Given the description of an element on the screen output the (x, y) to click on. 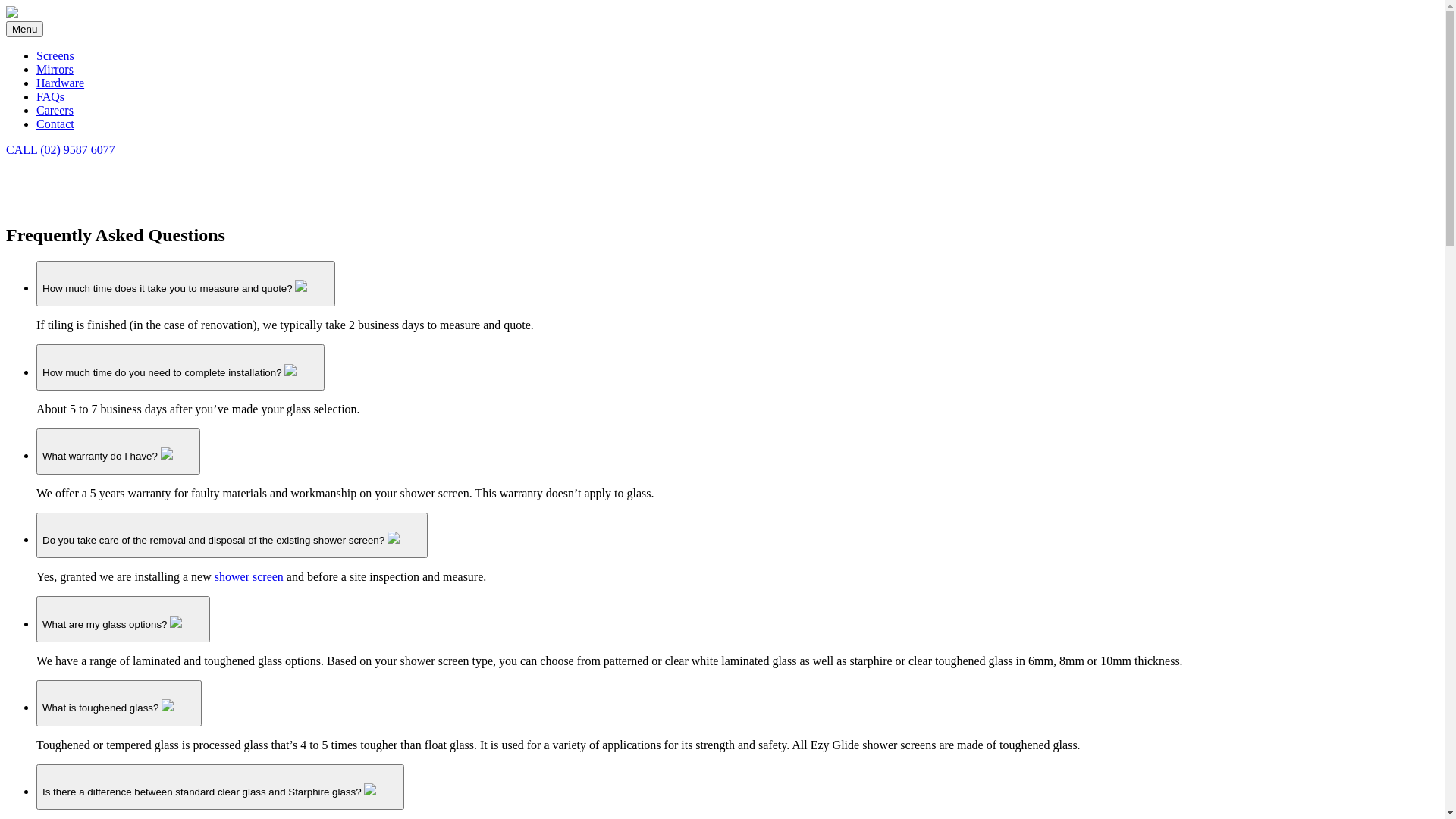
shower screen Element type: text (248, 576)
What warranty do I have? Element type: text (118, 451)
Hardware Element type: text (60, 82)
Contact Element type: text (55, 123)
FAQs Element type: text (50, 96)
CALL (02) 9587 6077 Element type: text (60, 149)
Menu Element type: text (24, 29)
Careers Element type: text (54, 109)
Screens Element type: text (55, 55)
How much time do you need to complete installation? Element type: text (180, 367)
What is toughened glass? Element type: text (118, 703)
What are my glass options? Element type: text (123, 619)
How much time does it take you to measure and quote? Element type: text (185, 283)
Mirrors Element type: text (54, 68)
